Given the description of an element on the screen output the (x, y) to click on. 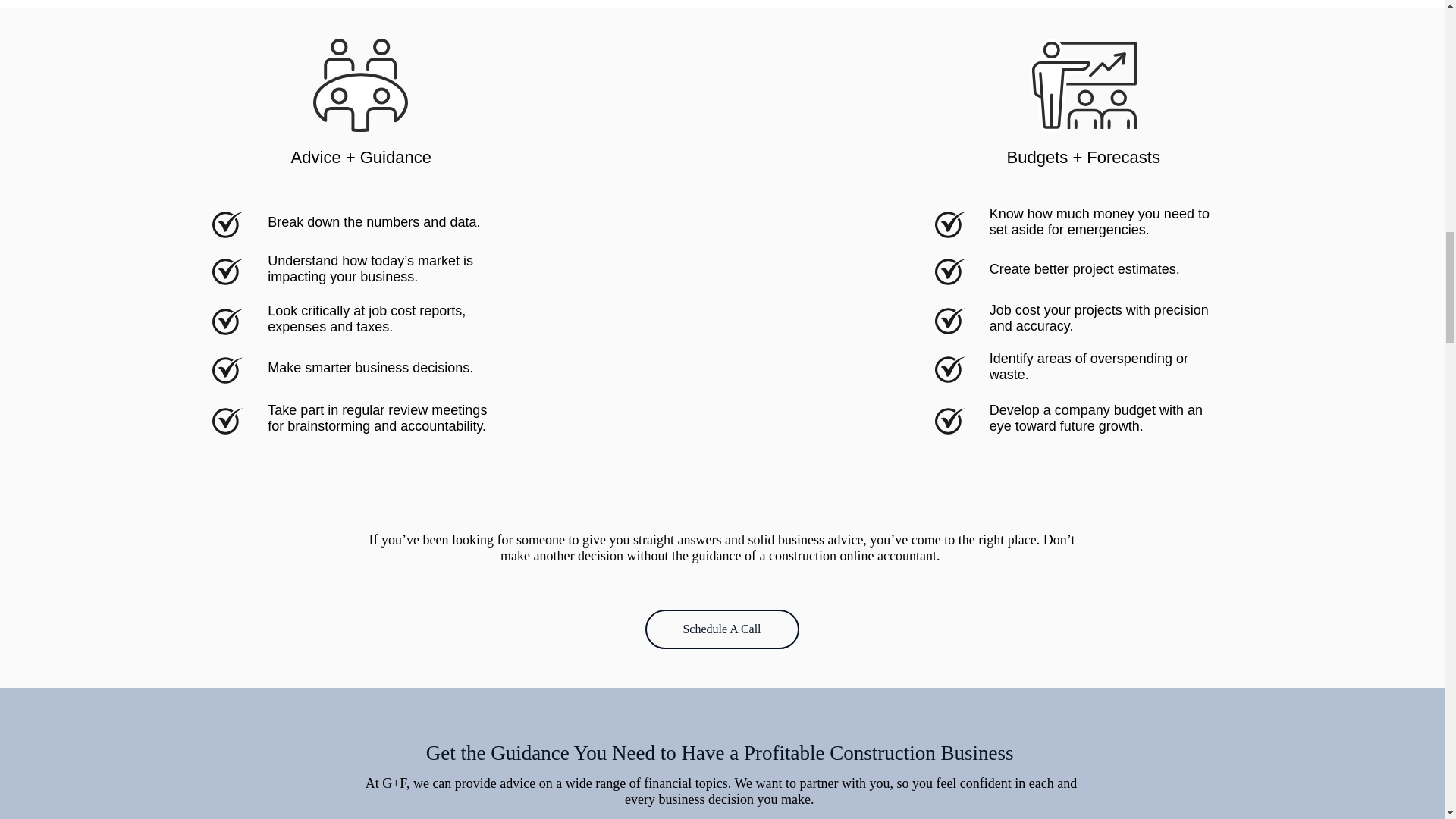
Schedule A Call (721, 629)
